Given the description of an element on the screen output the (x, y) to click on. 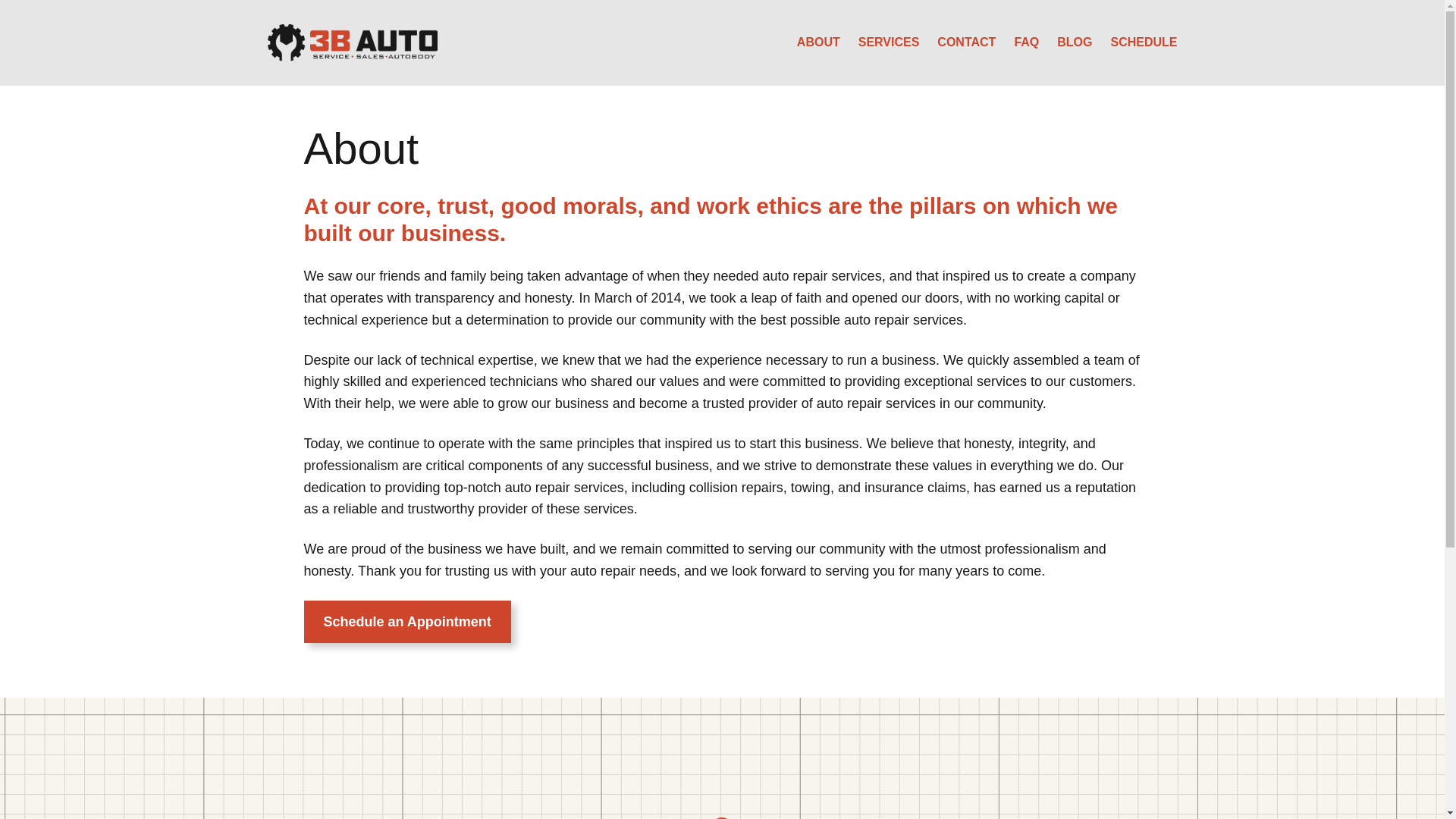
BLOG Element type: text (1074, 42)
FAQ Element type: text (1025, 42)
SERVICES Element type: text (888, 42)
ABOUT Element type: text (818, 42)
CONTACT Element type: text (966, 42)
SCHEDULE Element type: text (1143, 42)
Schedule an Appointment Element type: text (406, 621)
